Given the description of an element on the screen output the (x, y) to click on. 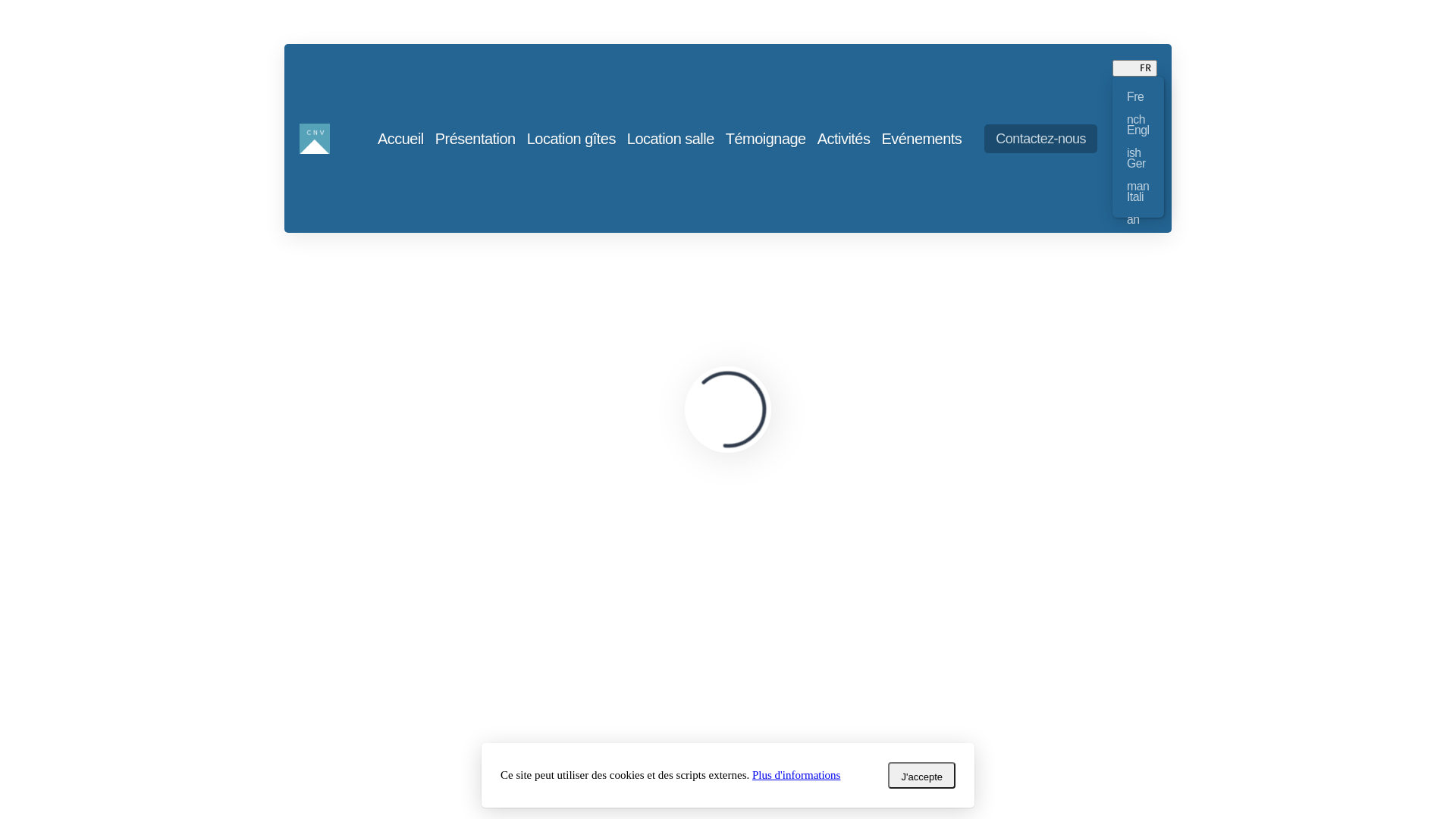
Accueil Element type: text (400, 138)
Italian Element type: text (1138, 196)
J'accepte Element type: text (921, 775)
Plus d'informations Element type: text (796, 774)
FR Element type: text (1134, 67)
Contactez-nous Element type: text (1040, 138)
Accueil Element type: text (26, 268)
French Element type: text (1138, 96)
English Element type: text (1138, 130)
German Element type: text (1138, 163)
Location salle Element type: text (670, 138)
